Given the description of an element on the screen output the (x, y) to click on. 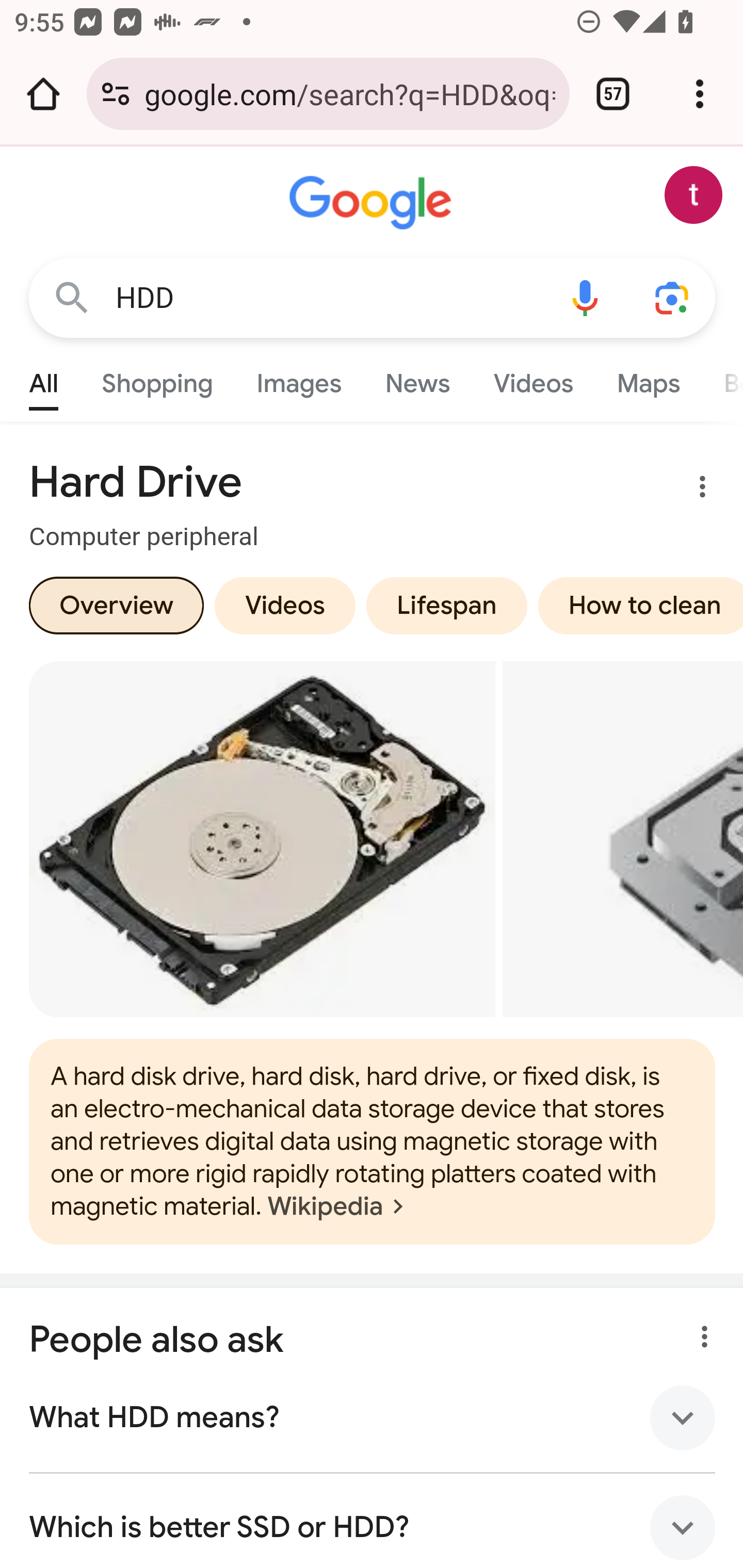
Open the home page (43, 93)
Connection is secure (115, 93)
Switch or close tabs (612, 93)
Customize and control Google Chrome (699, 93)
